Given the description of an element on the screen output the (x, y) to click on. 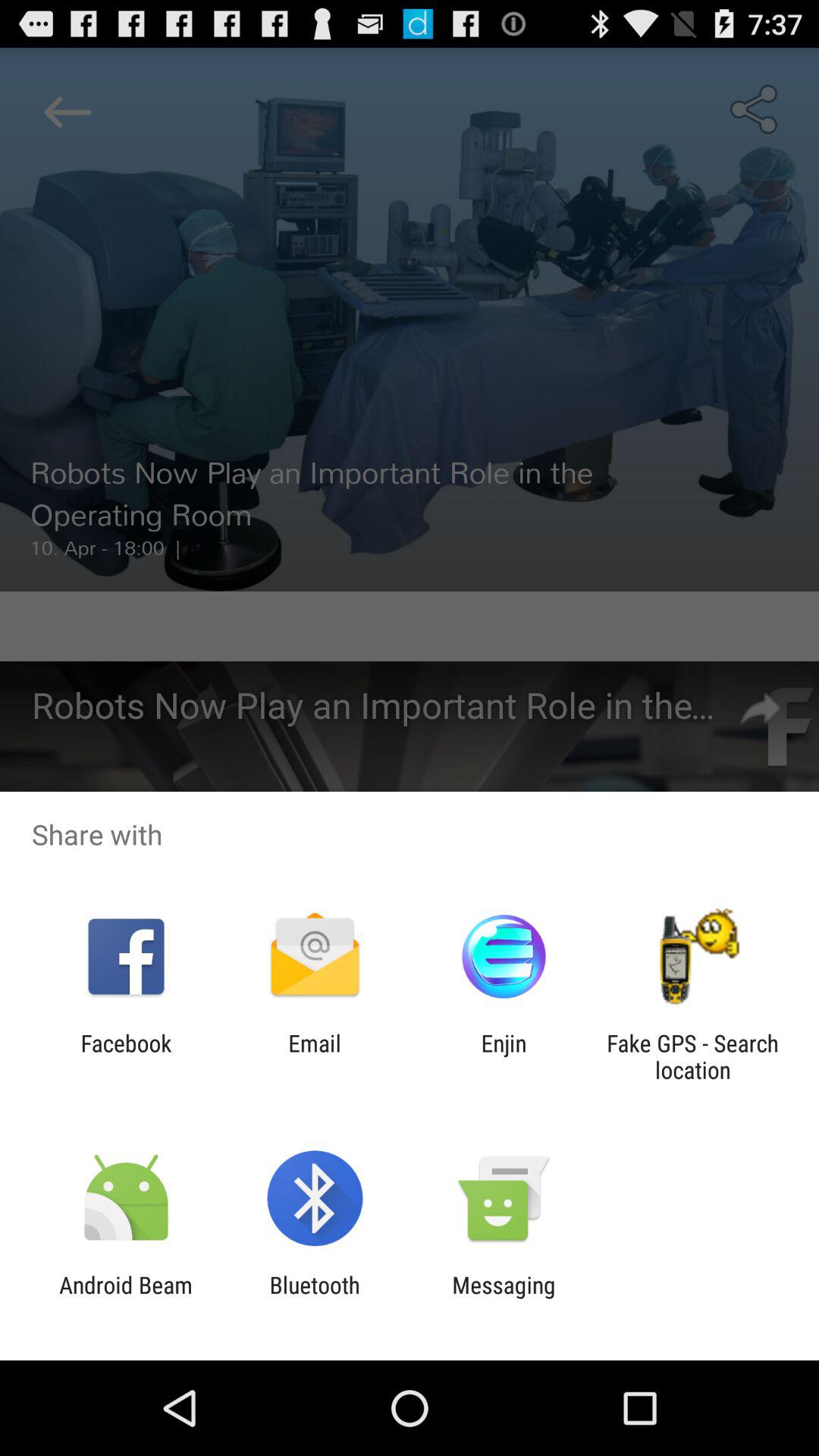
choose icon at the bottom right corner (692, 1056)
